Given the description of an element on the screen output the (x, y) to click on. 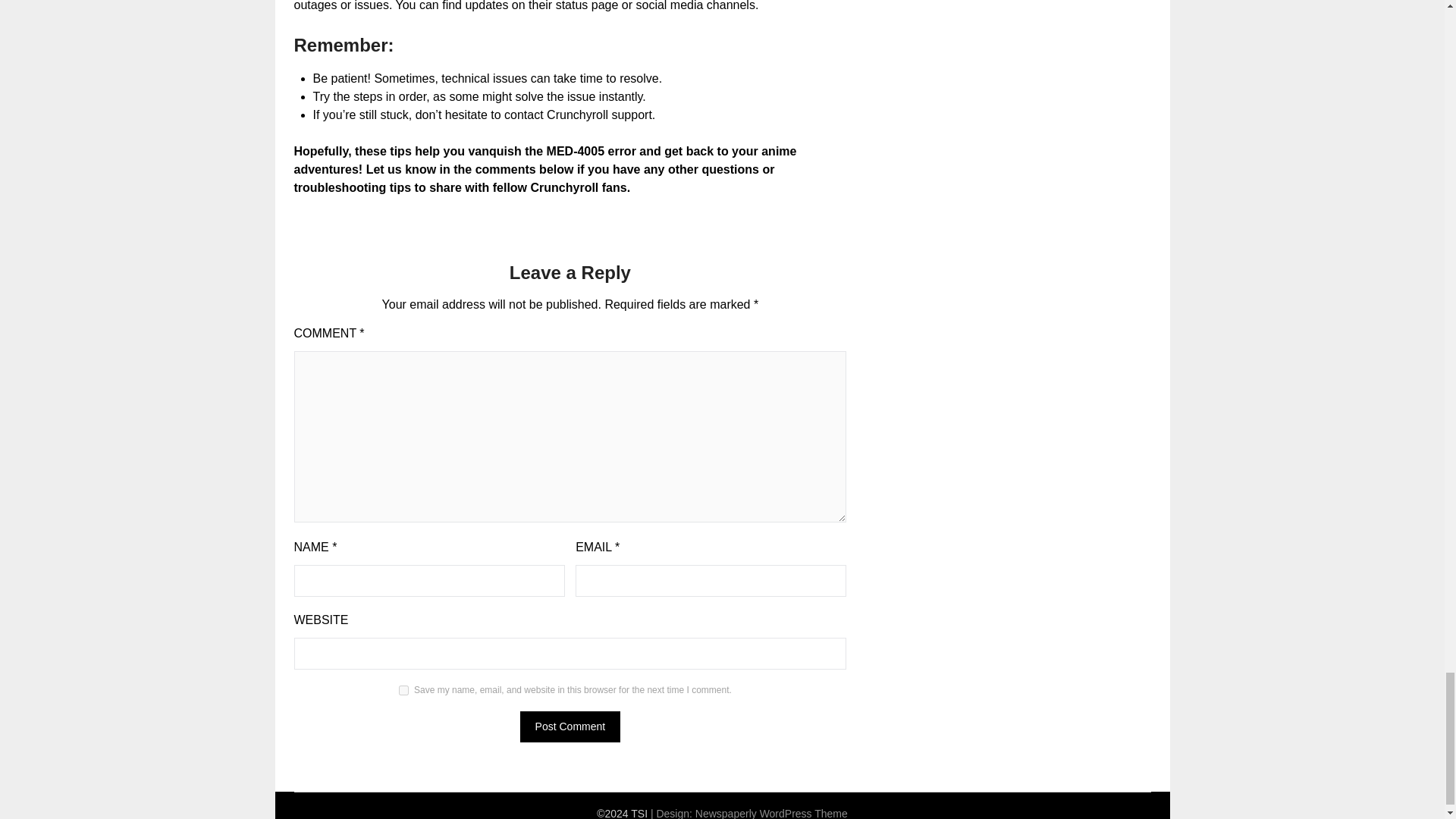
yes (403, 690)
Newspaperly WordPress Theme (771, 813)
Post Comment (570, 726)
Post Comment (570, 726)
